Given the description of an element on the screen output the (x, y) to click on. 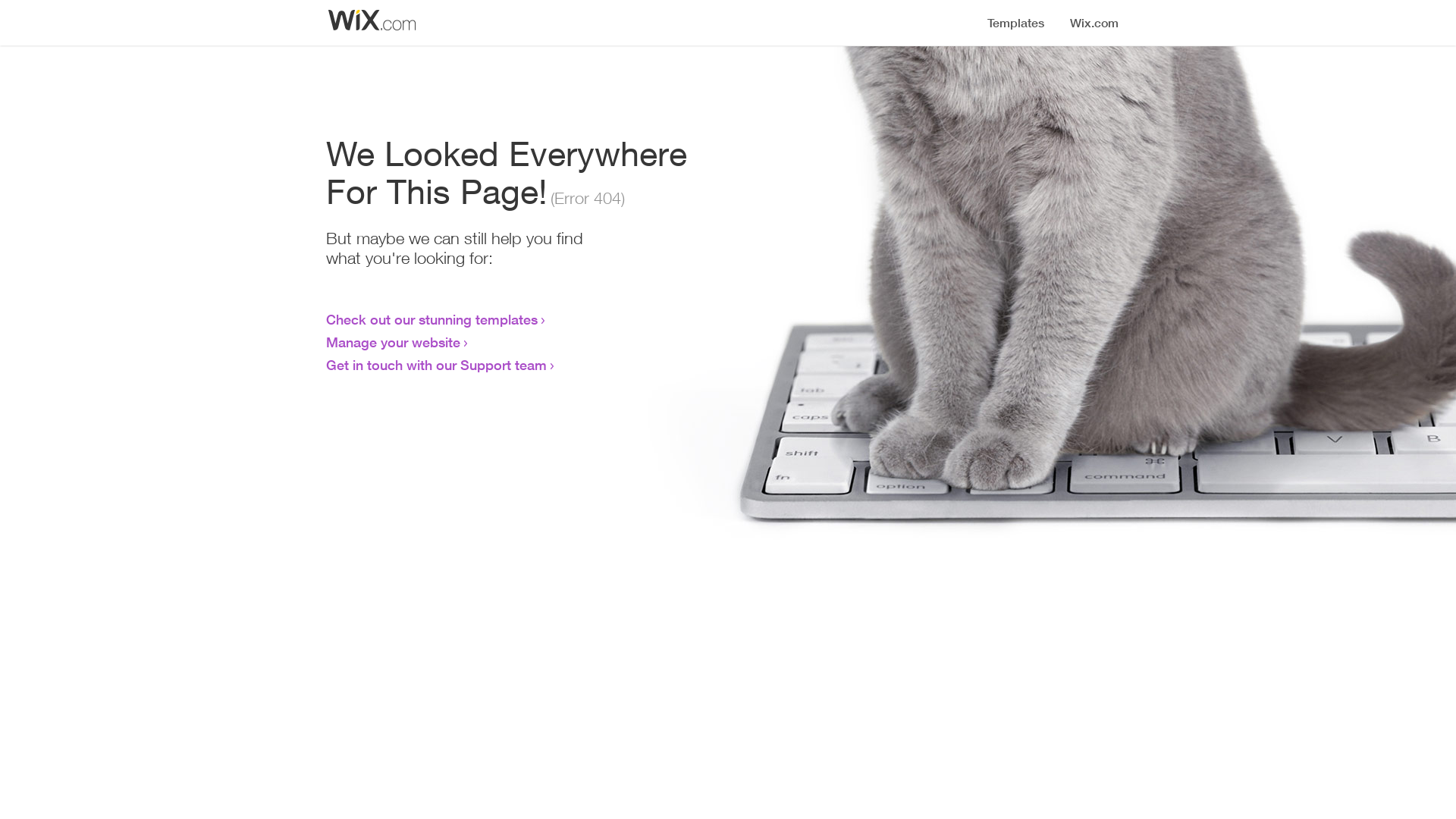
Check out our stunning templates Element type: text (431, 318)
Manage your website Element type: text (393, 341)
Get in touch with our Support team Element type: text (436, 364)
